Given the description of an element on the screen output the (x, y) to click on. 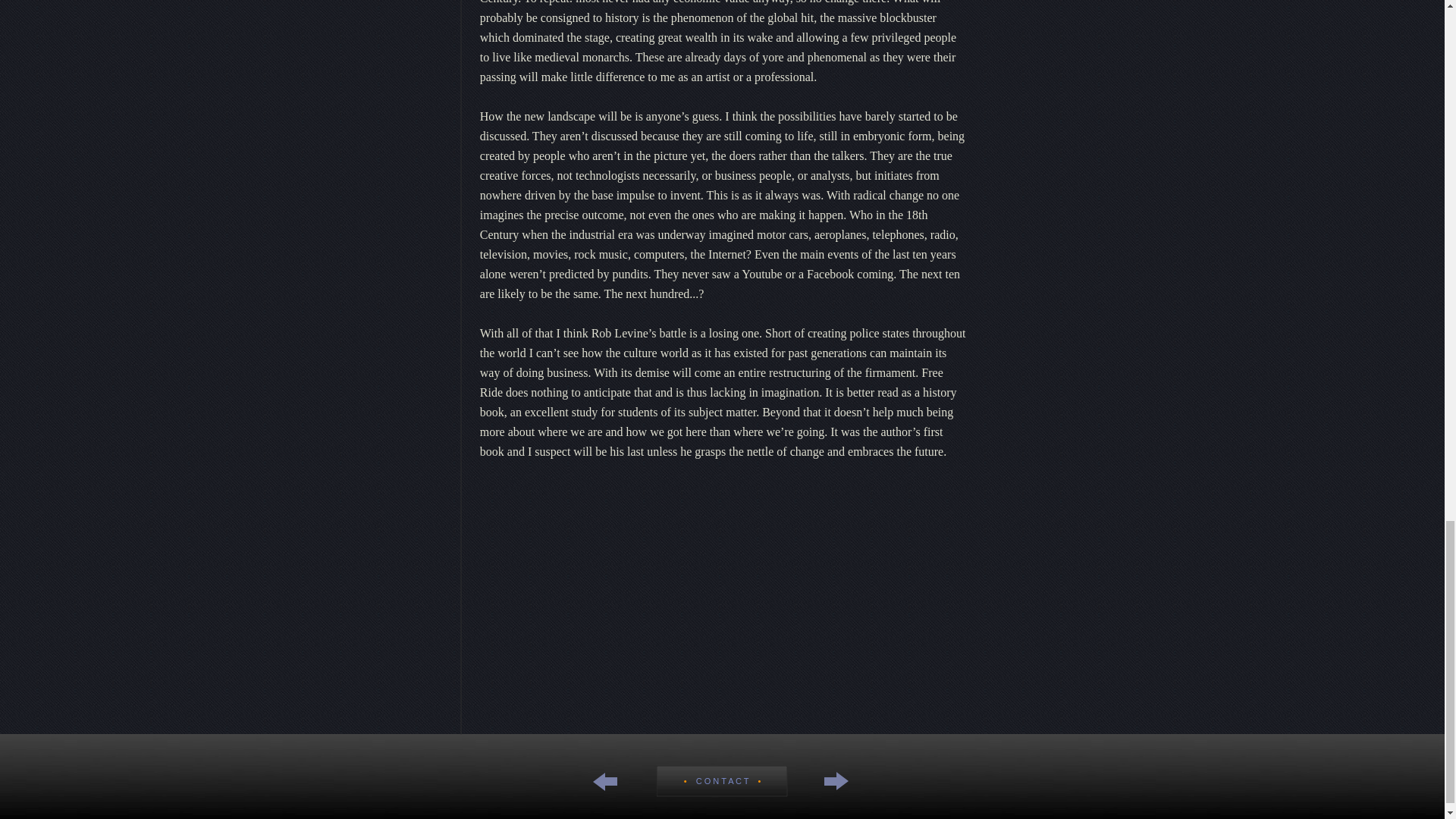
  C O N T A C T   (722, 780)
